Given the description of an element on the screen output the (x, y) to click on. 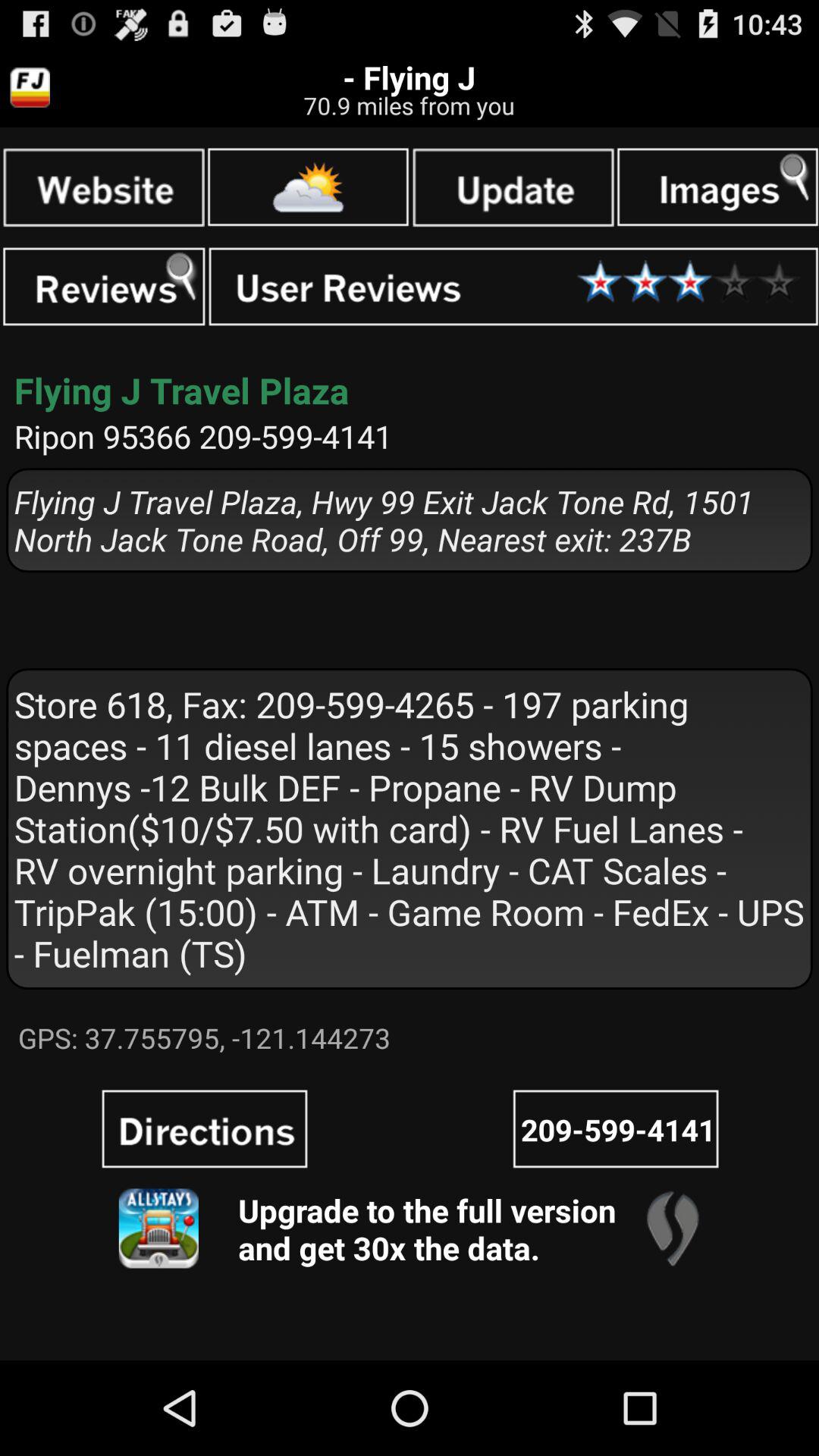
update the page (512, 186)
